Given the description of an element on the screen output the (x, y) to click on. 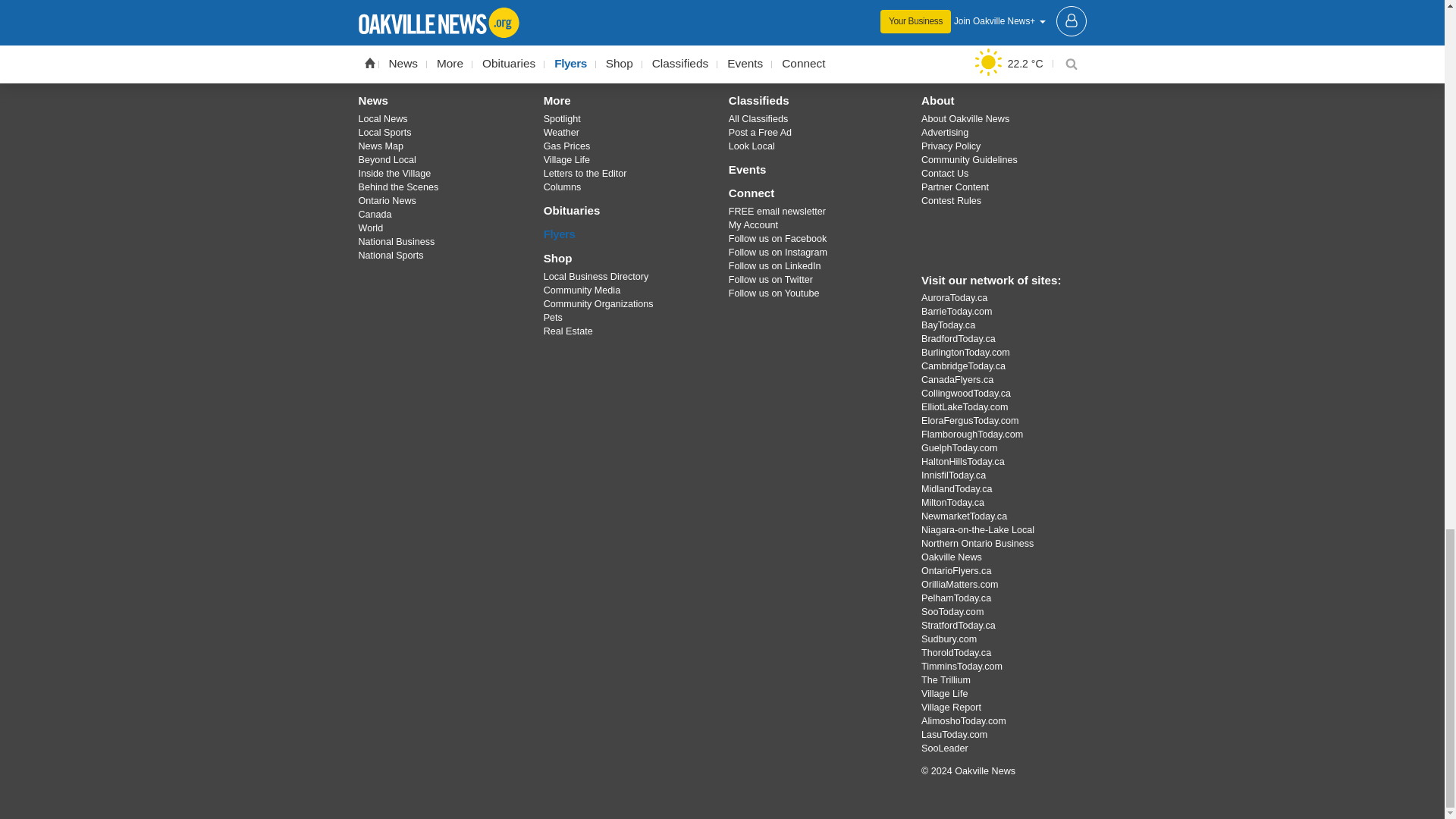
Instagram (721, 47)
YouTube (760, 47)
Facebook (644, 47)
X (683, 47)
LinkedIn (800, 47)
